Given the description of an element on the screen output the (x, y) to click on. 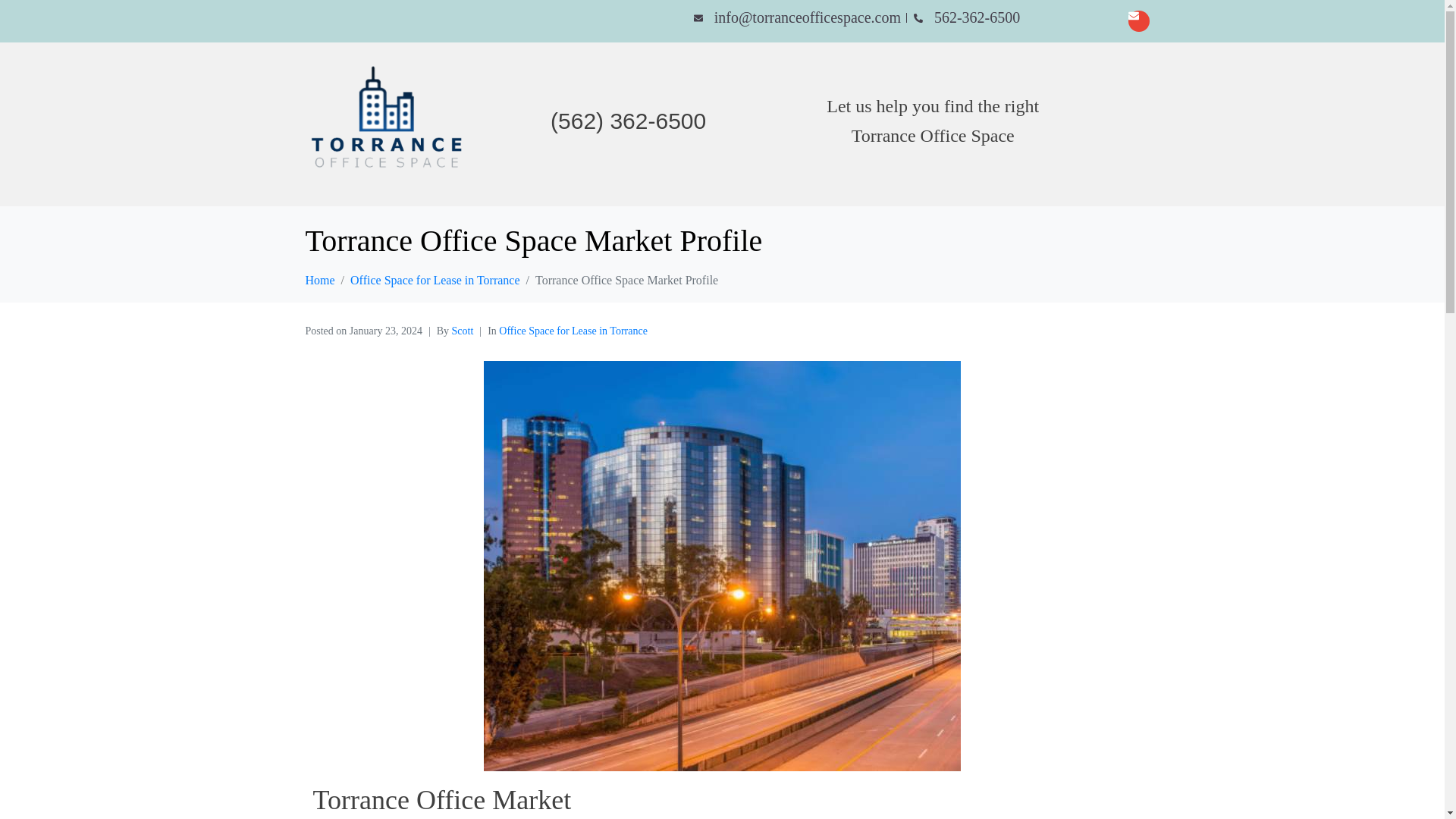
Home (319, 279)
Scott (462, 330)
562-362-6500 (966, 17)
Office Space for Lease in Torrance (434, 279)
Office Space for Lease in Torrance (573, 330)
